Given the description of an element on the screen output the (x, y) to click on. 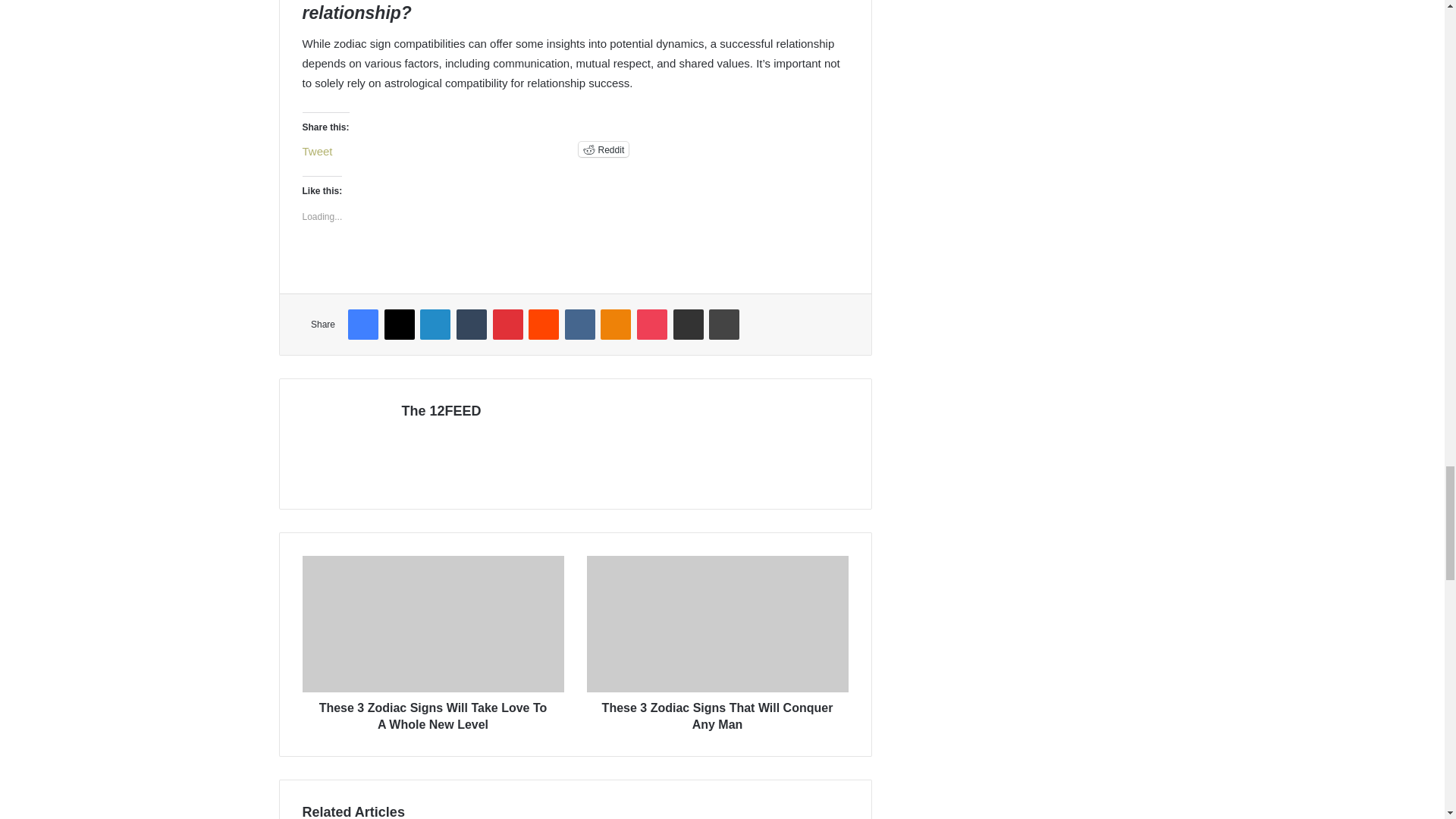
Click to share on Reddit (603, 149)
Tweet (316, 148)
